Given the description of an element on the screen output the (x, y) to click on. 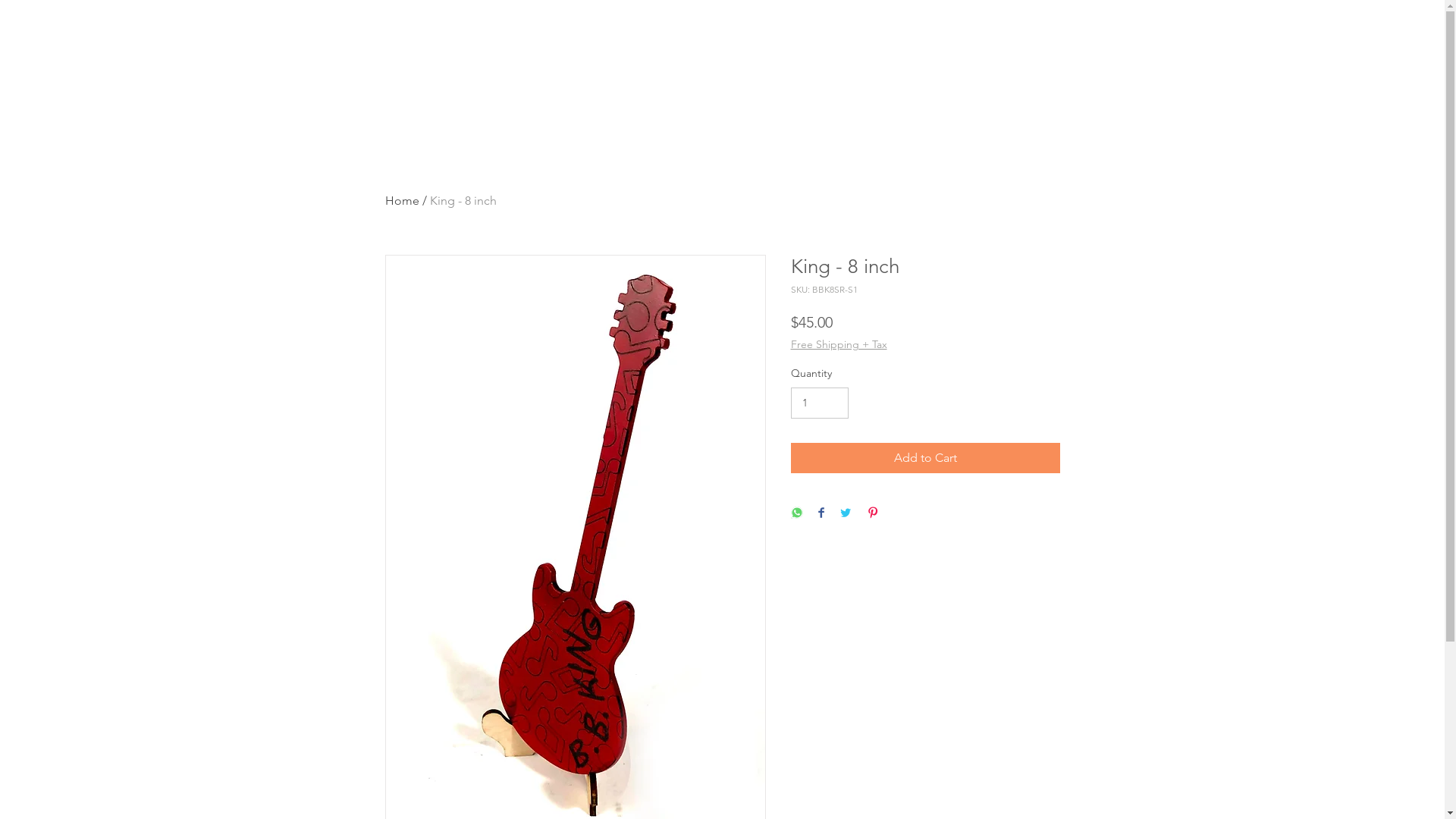
Home Element type: text (402, 200)
King - 8 inch Element type: text (462, 200)
About Us Element type: text (788, 81)
Free Shipping + Tax Element type: text (838, 344)
Our Work Element type: text (1059, 81)
Add to Cart Element type: text (924, 457)
Artists Element type: text (1298, 81)
Press Element type: text (1183, 81)
